Given the description of an element on the screen output the (x, y) to click on. 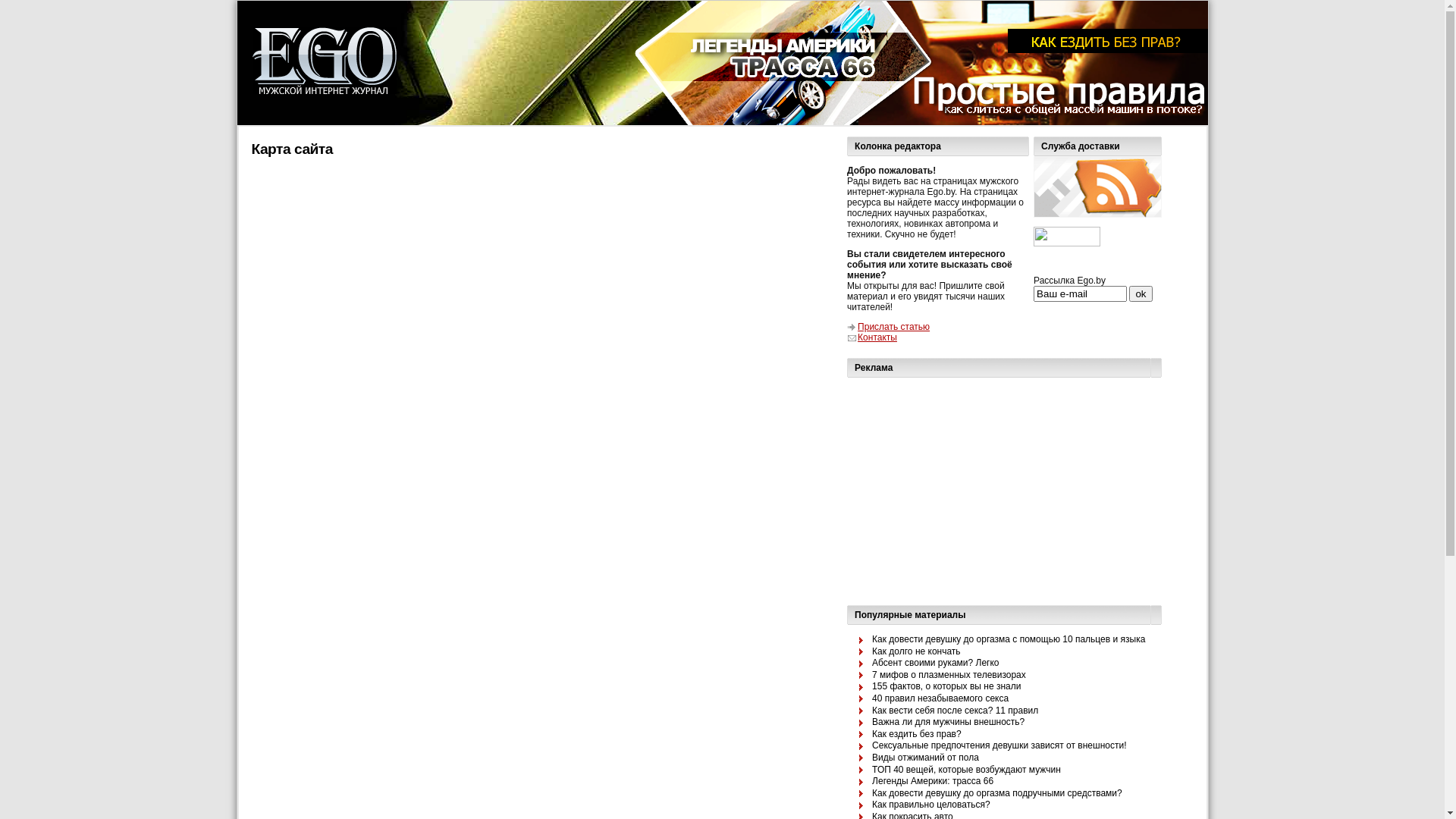
ok Element type: text (1140, 293)
Advertisement Element type: hover (1004, 494)
